Given the description of an element on the screen output the (x, y) to click on. 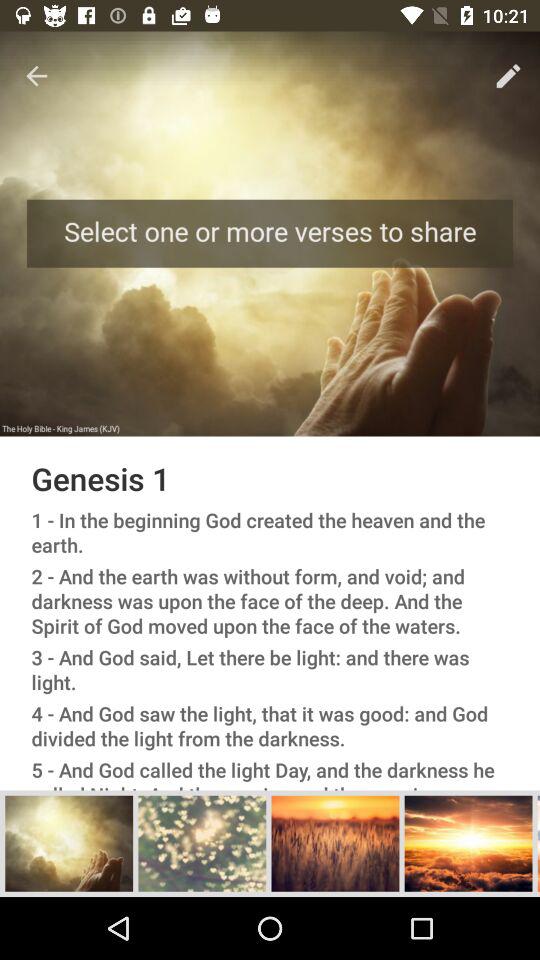
it show the image (468, 843)
